Given the description of an element on the screen output the (x, y) to click on. 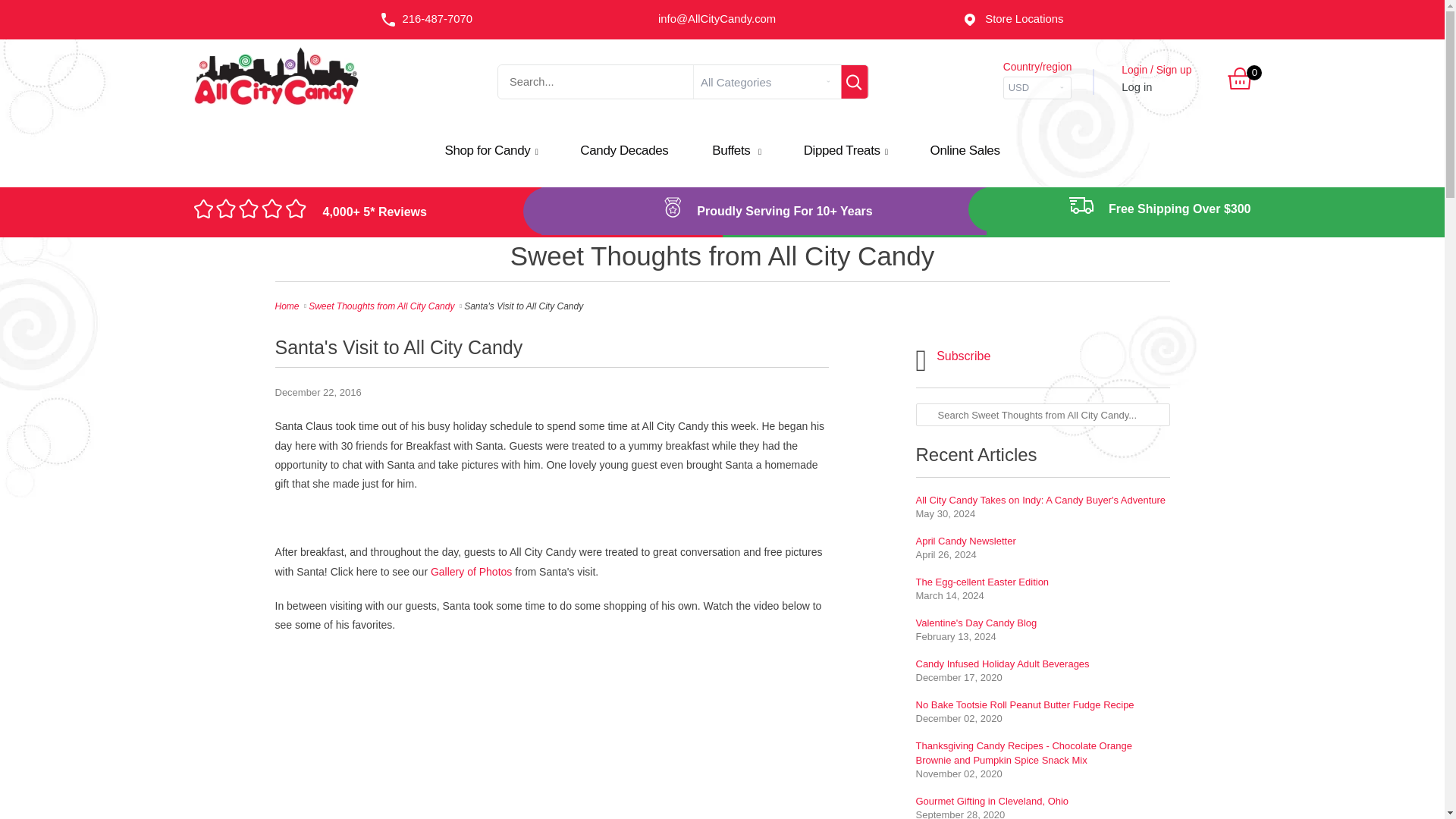
Sweet Thoughts from All City Candy (722, 259)
Subscribe with RSS (953, 365)
April Candy Newsletter (965, 541)
All City Candy (286, 306)
216-487-7070 (425, 19)
Santa's Visit to All City Candy, 2016 (471, 571)
Store Locations (1011, 19)
Log in (1136, 87)
0 (1239, 85)
All City Candy Takes on Indy: A Candy Buyer's Adventure (1040, 500)
Sweet Thoughts from All City Candy (381, 306)
All City Candy (276, 112)
